Given the description of an element on the screen output the (x, y) to click on. 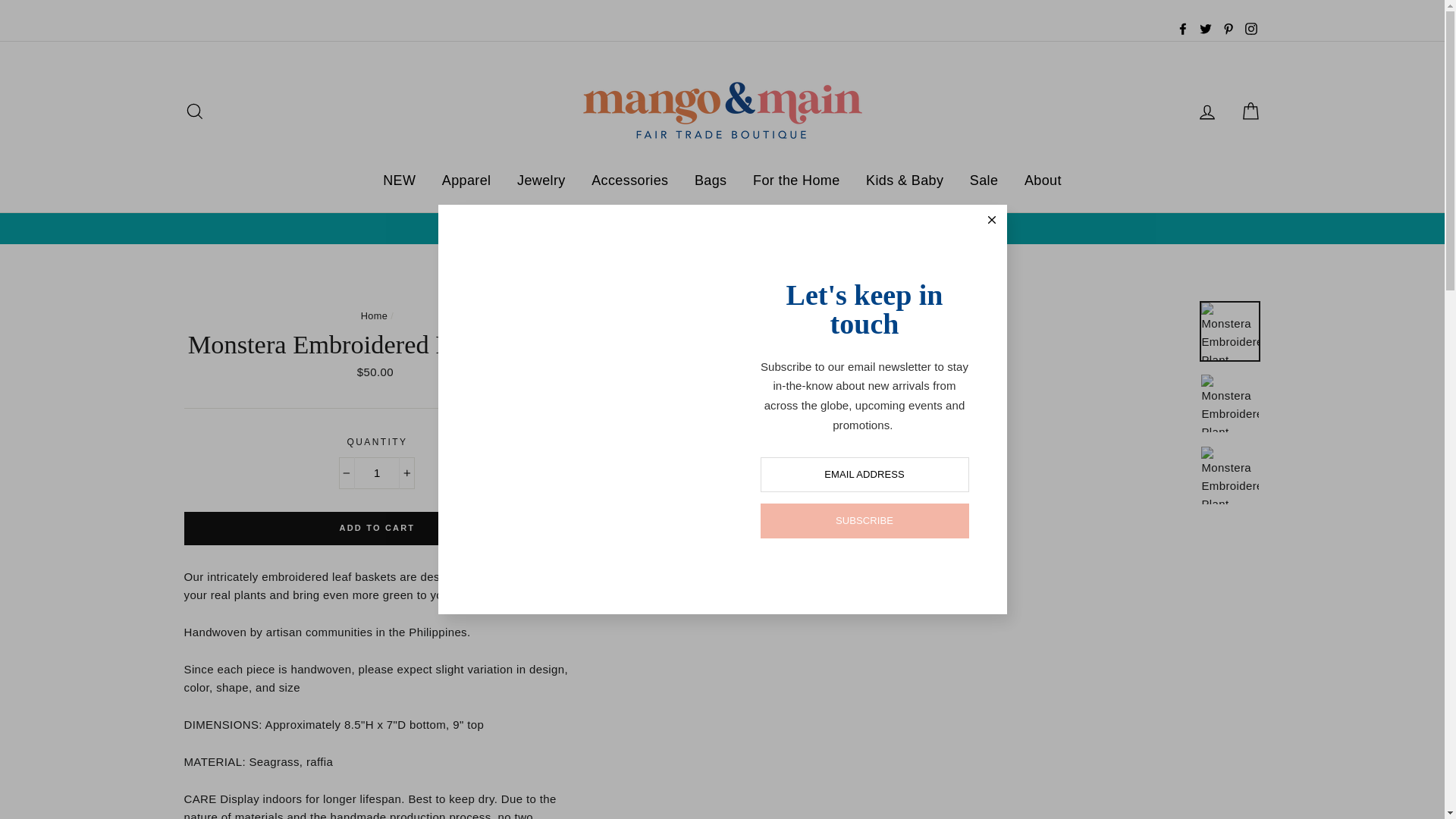
Back to the frontpage (374, 315)
1 (376, 472)
